Given the description of an element on the screen output the (x, y) to click on. 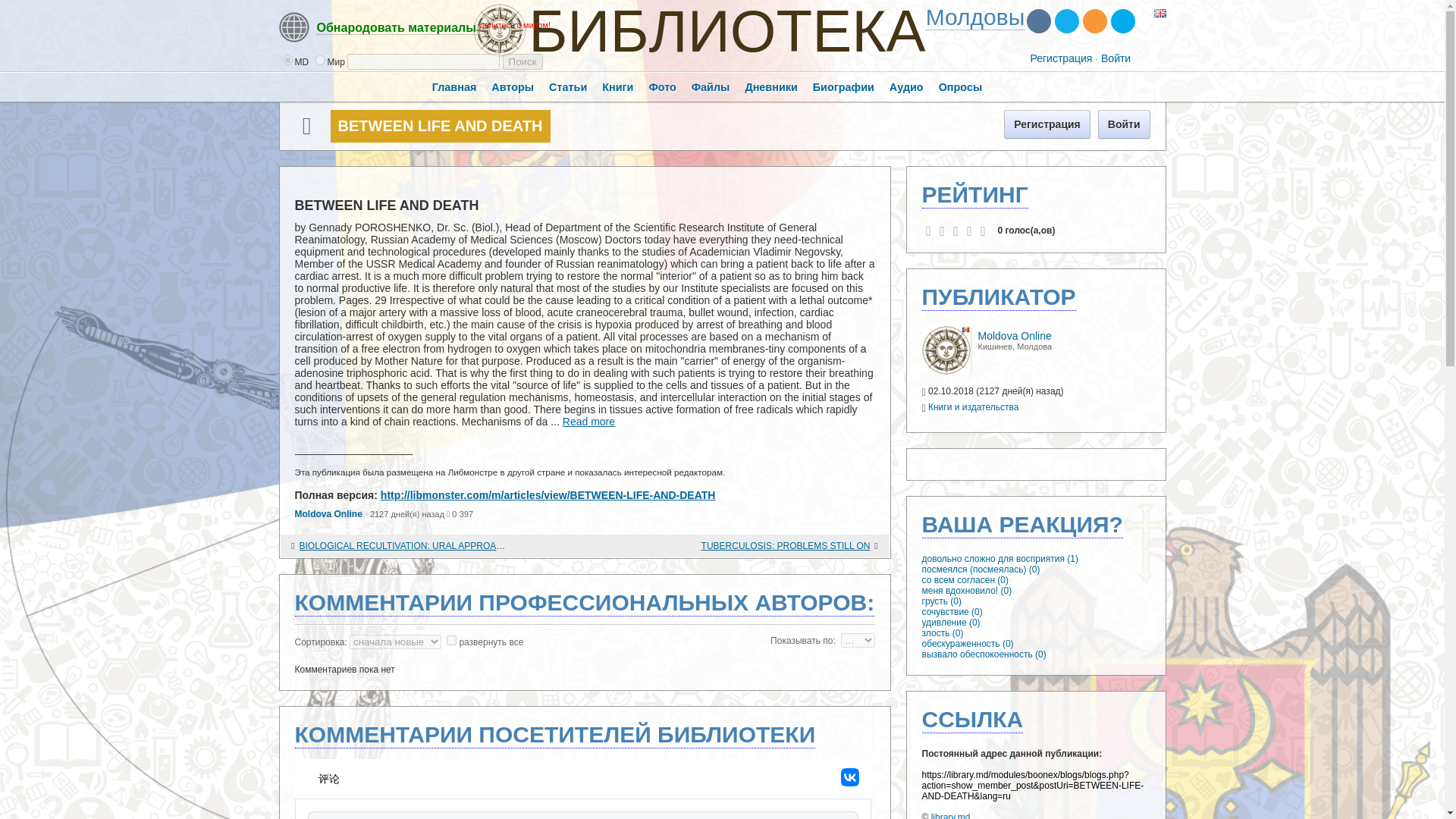
on (451, 640)
International Library Network (975, 16)
1 (319, 60)
Switch to English (1160, 14)
BIOLOGICAL RECULTIVATION: URAL APPROACH (402, 545)
Read more (588, 421)
TUBERCULOSIS: PROBLEMS STILL ON (766, 545)
0 (287, 60)
Moldova Online (946, 371)
